Given the description of an element on the screen output the (x, y) to click on. 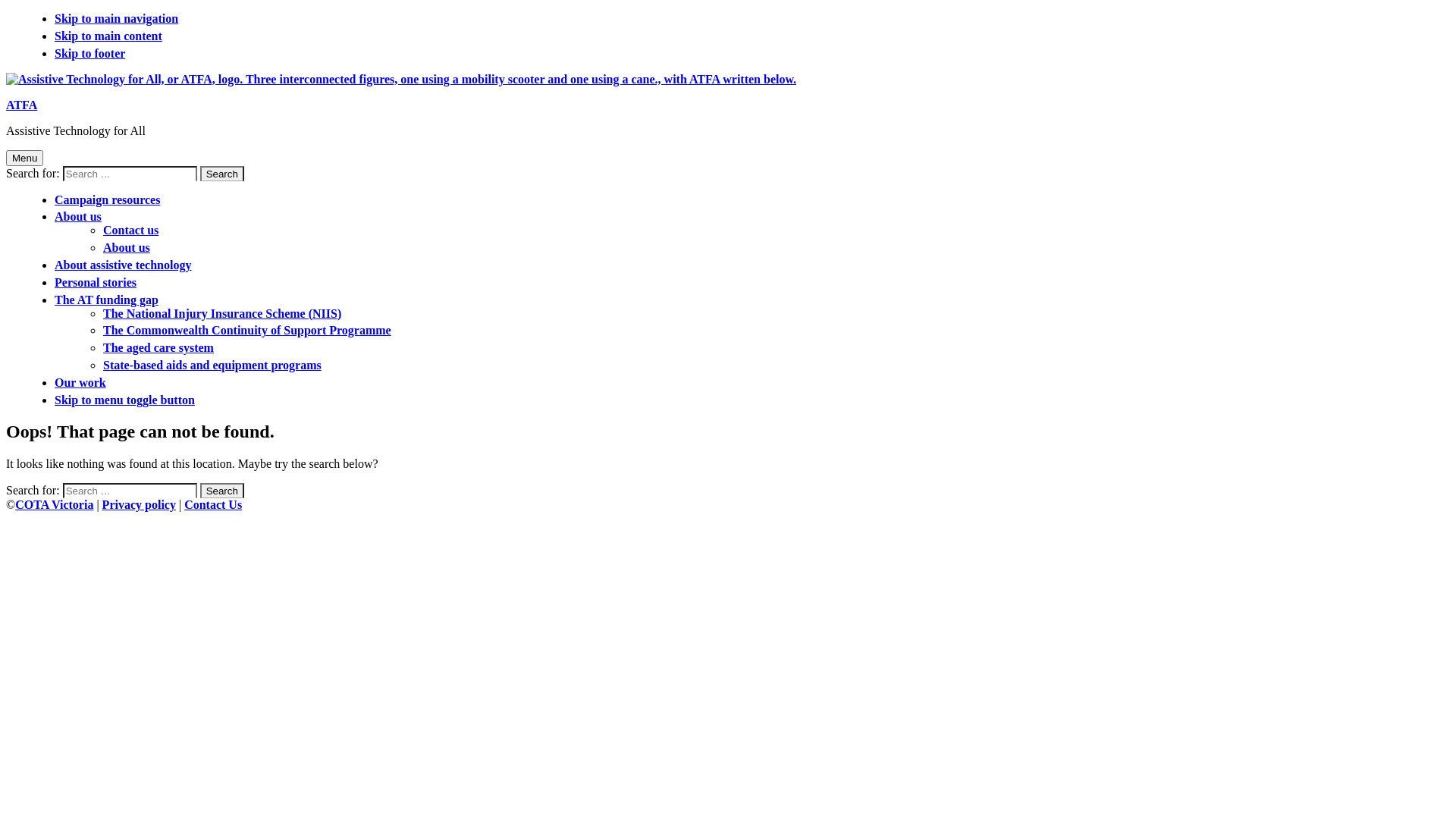
Contact Us Element type: text (212, 504)
About us Element type: text (126, 247)
The AT funding gap Element type: text (106, 299)
Search Element type: text (222, 490)
Campaign resources Element type: text (107, 199)
COTA Victoria Element type: text (54, 504)
The aged care system Element type: text (158, 347)
The Commonwealth Continuity of Support Programme Element type: text (247, 329)
Menu Element type: text (24, 158)
Skip to footer Element type: text (89, 53)
State-based aids and equipment programs Element type: text (212, 364)
About us Element type: text (77, 216)
Personal stories Element type: text (95, 282)
ATFA Element type: text (21, 104)
The National Injury Insurance Scheme (NIIS) Element type: text (222, 313)
Privacy policy Element type: text (138, 504)
About assistive technology Element type: text (122, 264)
Contact us Element type: text (130, 229)
Our work Element type: text (80, 382)
Search Element type: text (222, 173)
Skip to menu toggle button Element type: text (124, 399)
Skip to main content Element type: text (108, 35)
Skip to main navigation Element type: text (116, 18)
